Given the description of an element on the screen output the (x, y) to click on. 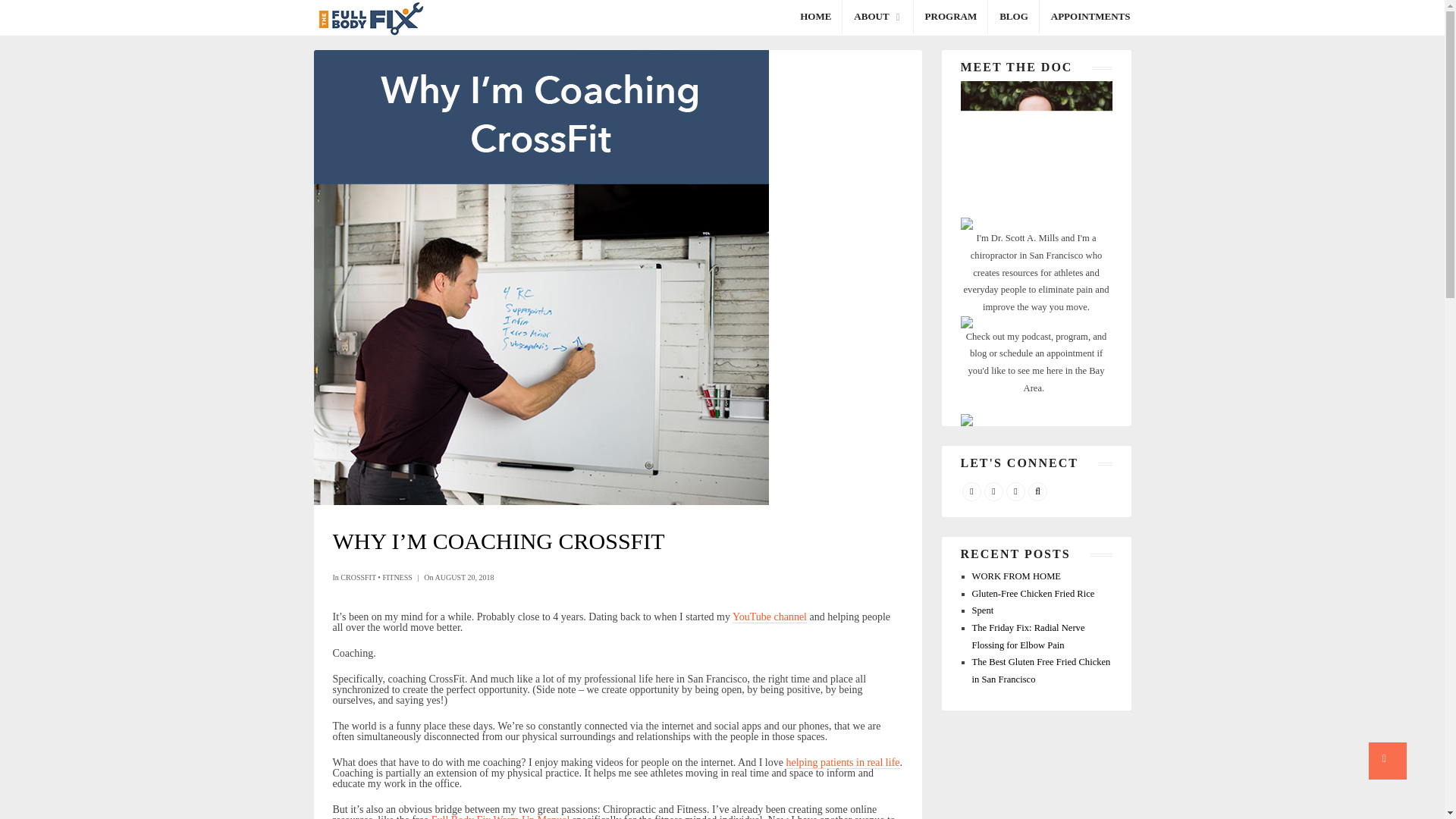
Facebook (969, 491)
Instagram (1015, 491)
helping patients in real life (842, 762)
Full Body Fix Warm Up Manual (500, 816)
The Best Gluten Free Fried Chicken in San Francisco (1041, 670)
FITNESS (396, 577)
CROSSFIT (357, 577)
PROGRAM (950, 17)
Gluten-Free Chicken Fried Rice (1033, 593)
YouTube channel (769, 616)
